Given the description of an element on the screen output the (x, y) to click on. 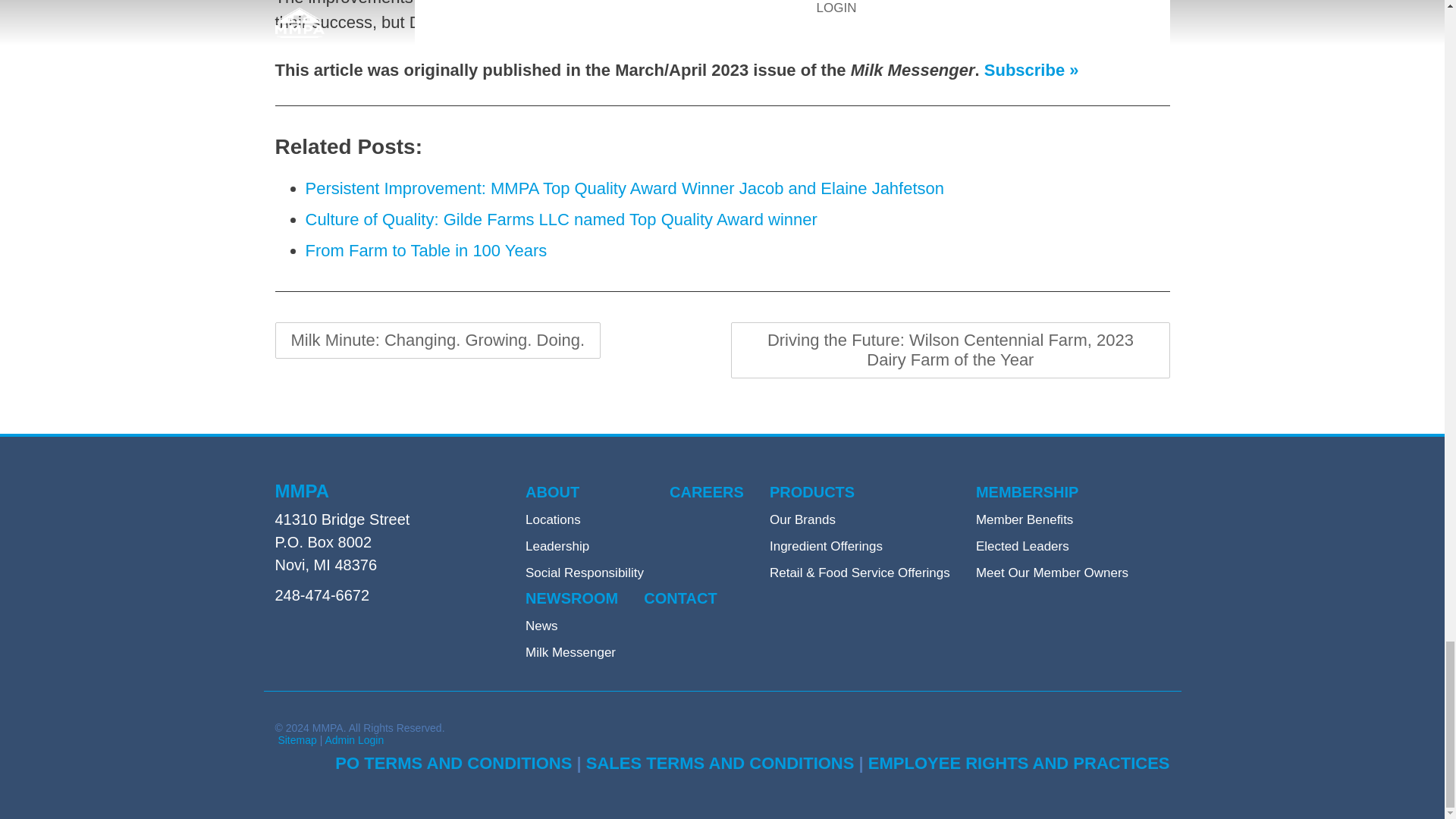
From Farm to Table in 100 Years (425, 250)
ABOUT (552, 492)
CAREERS (706, 492)
Leadership (557, 546)
Social Responsibility (584, 572)
Locations (552, 519)
PRODUCTS (812, 492)
